Given the description of an element on the screen output the (x, y) to click on. 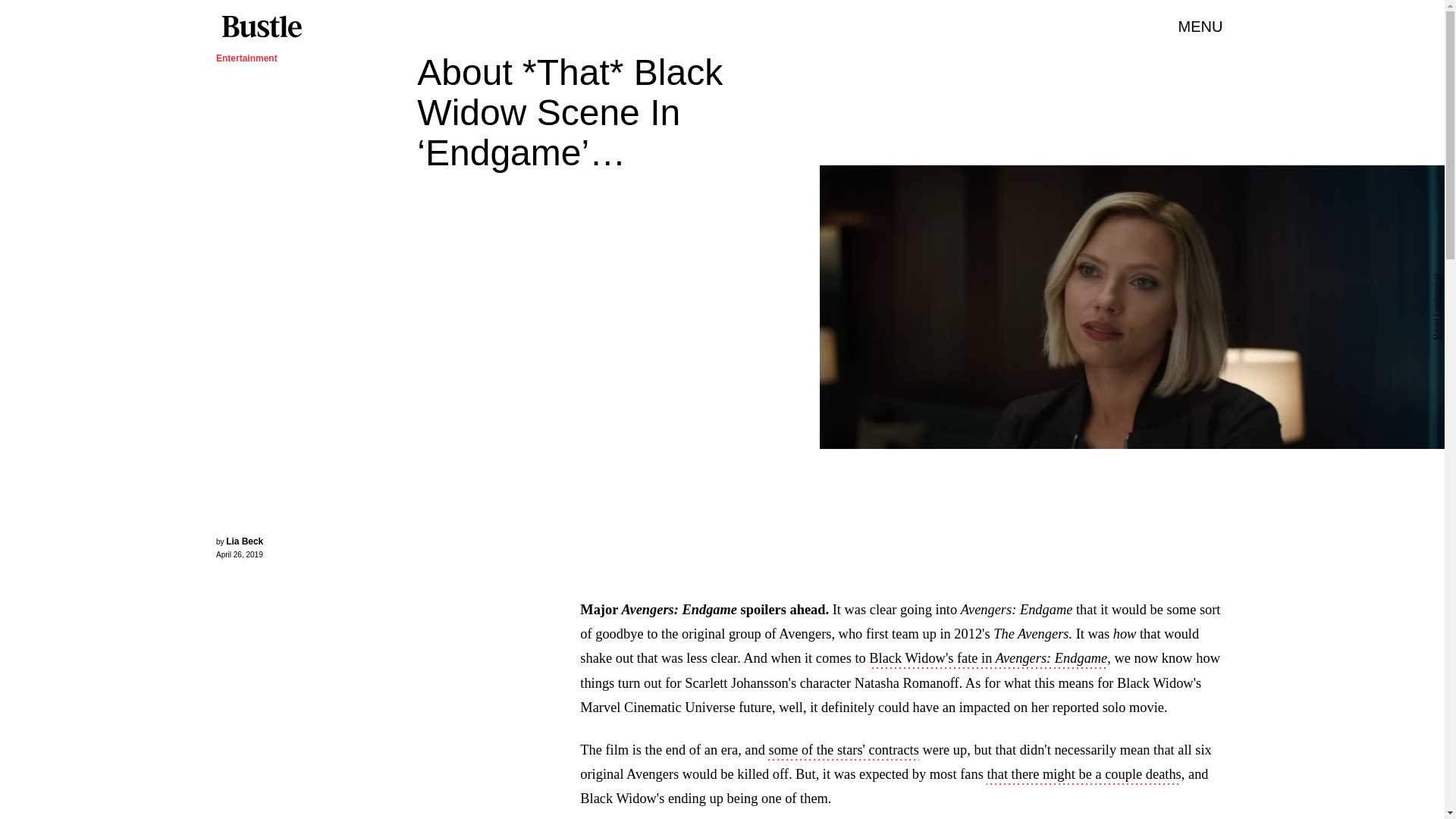
Bustle (261, 26)
that there might be a couple deaths (1083, 775)
Black Widow's fate in Avengers: Endgame (987, 659)
some of the stars' contracts (843, 751)
